Given the description of an element on the screen output the (x, y) to click on. 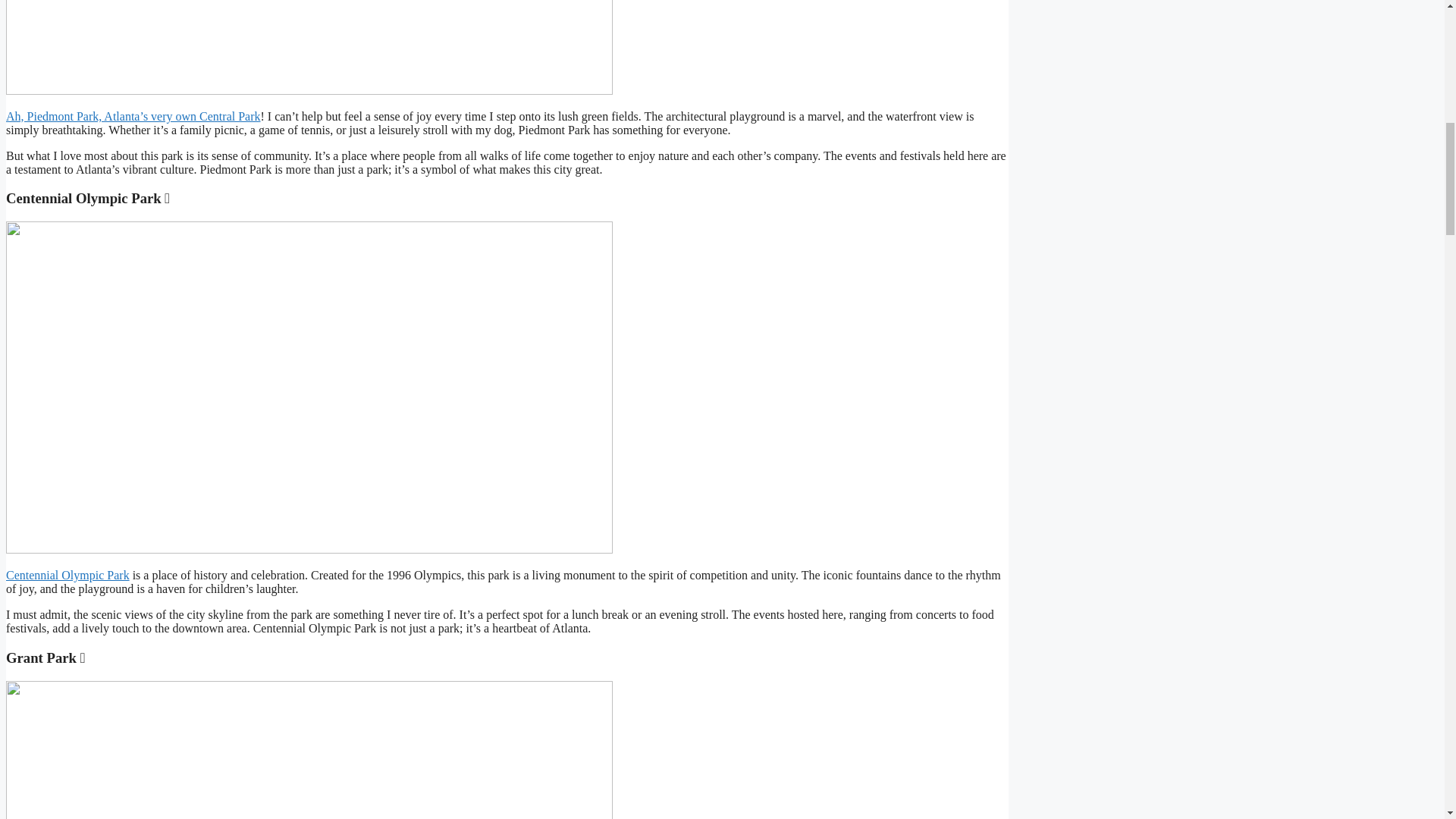
Centennial Olympic Park (67, 574)
